Given the description of an element on the screen output the (x, y) to click on. 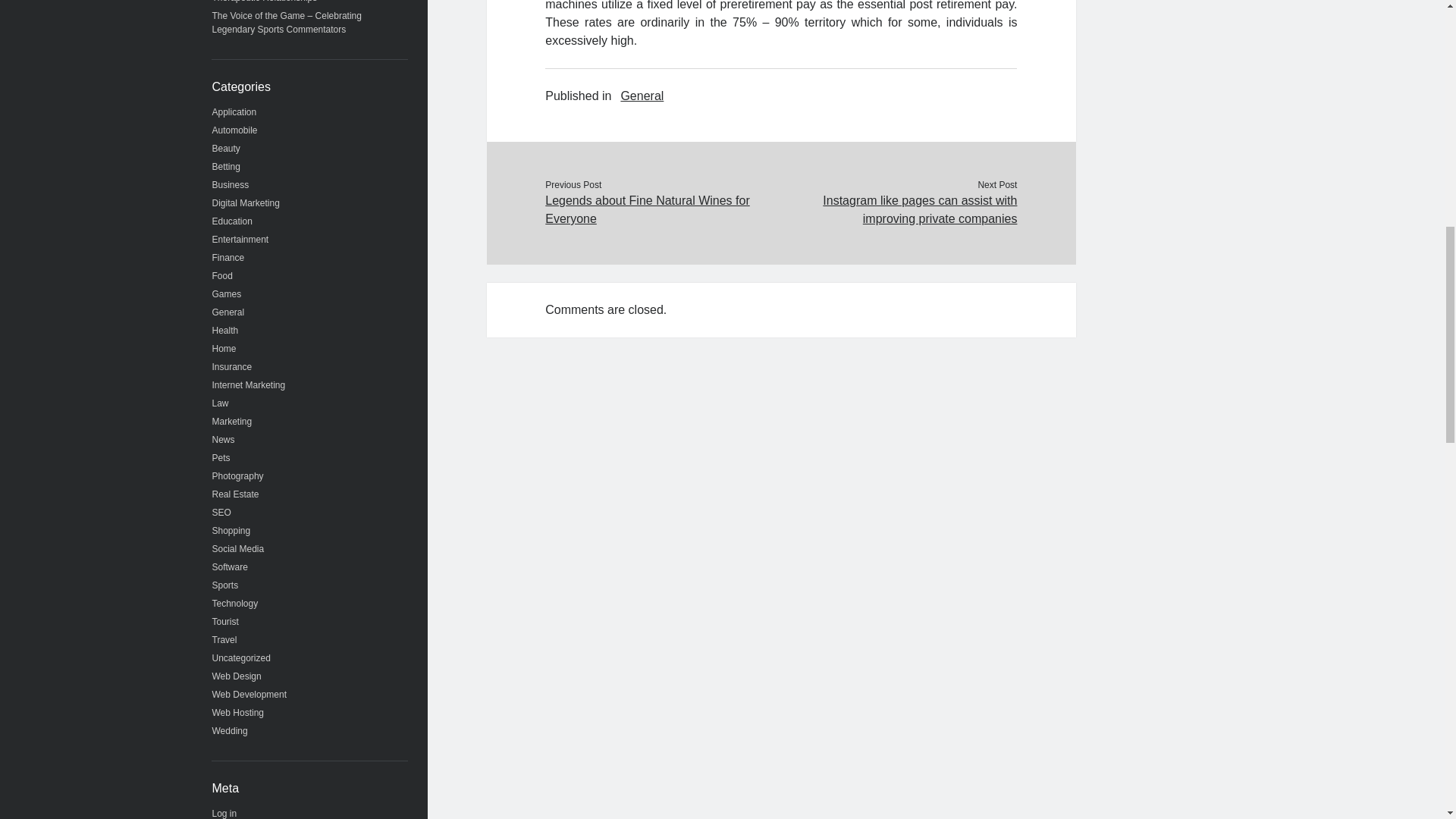
Digital Marketing (245, 203)
Beauty (226, 148)
Social Media (238, 548)
Health (225, 330)
Entertainment (240, 239)
Insurance (231, 366)
Automobile (234, 130)
Software (229, 566)
View all posts in General (641, 95)
Photography (237, 475)
